Given the description of an element on the screen output the (x, y) to click on. 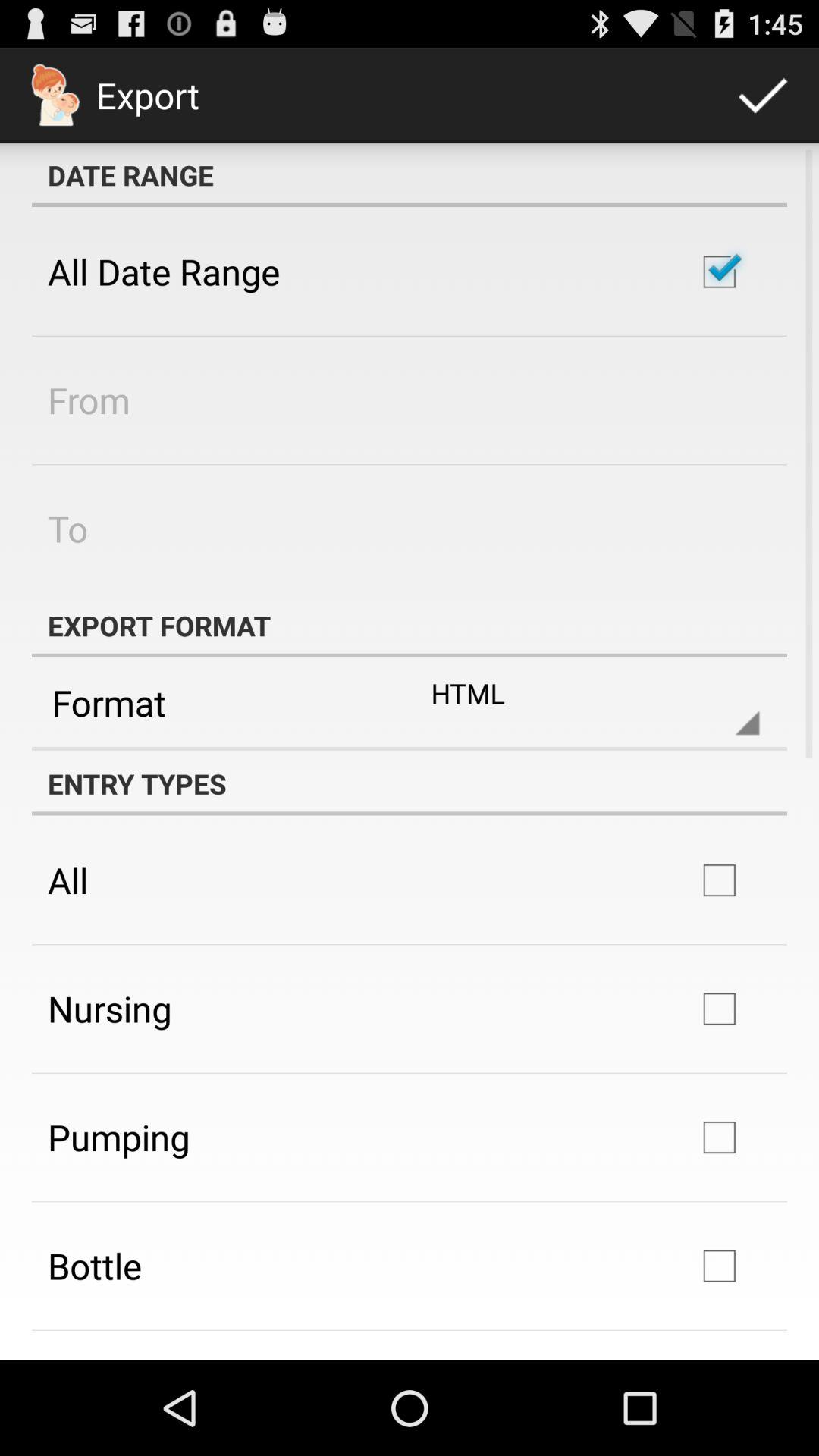
open the icon to the right of export app (763, 95)
